Given the description of an element on the screen output the (x, y) to click on. 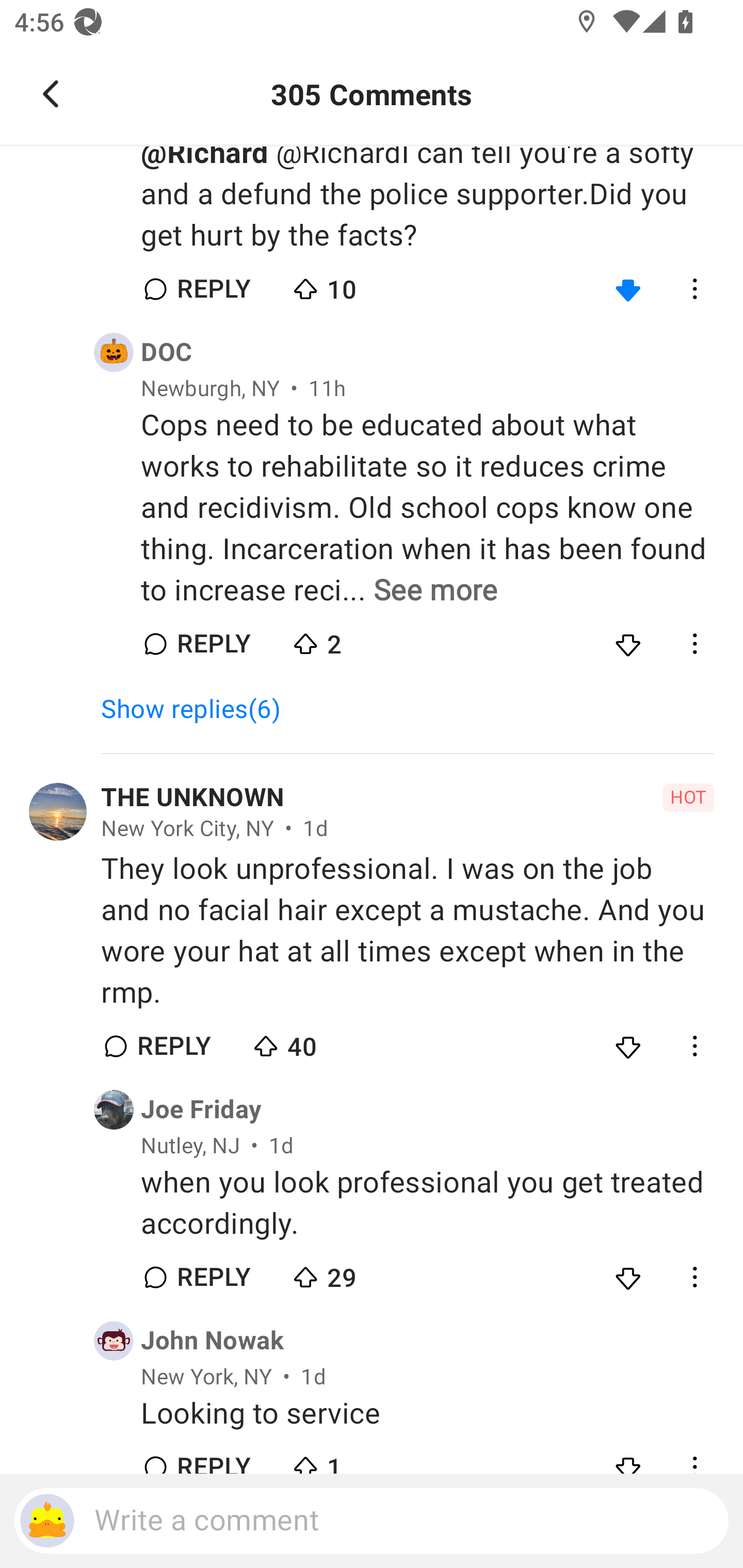
Navigate up (50, 93)
10 (360, 284)
REPLY (213, 289)
DOC (166, 351)
2 (360, 639)
REPLY (213, 643)
Show replies(6) (199, 709)
THE UNKNOWN (192, 797)
40 (320, 1041)
REPLY (173, 1046)
Joe Friday (201, 1109)
29 (360, 1272)
REPLY (213, 1277)
John Nowak (212, 1340)
Looking to service (427, 1413)
Write a comment (371, 1520)
